Given the description of an element on the screen output the (x, y) to click on. 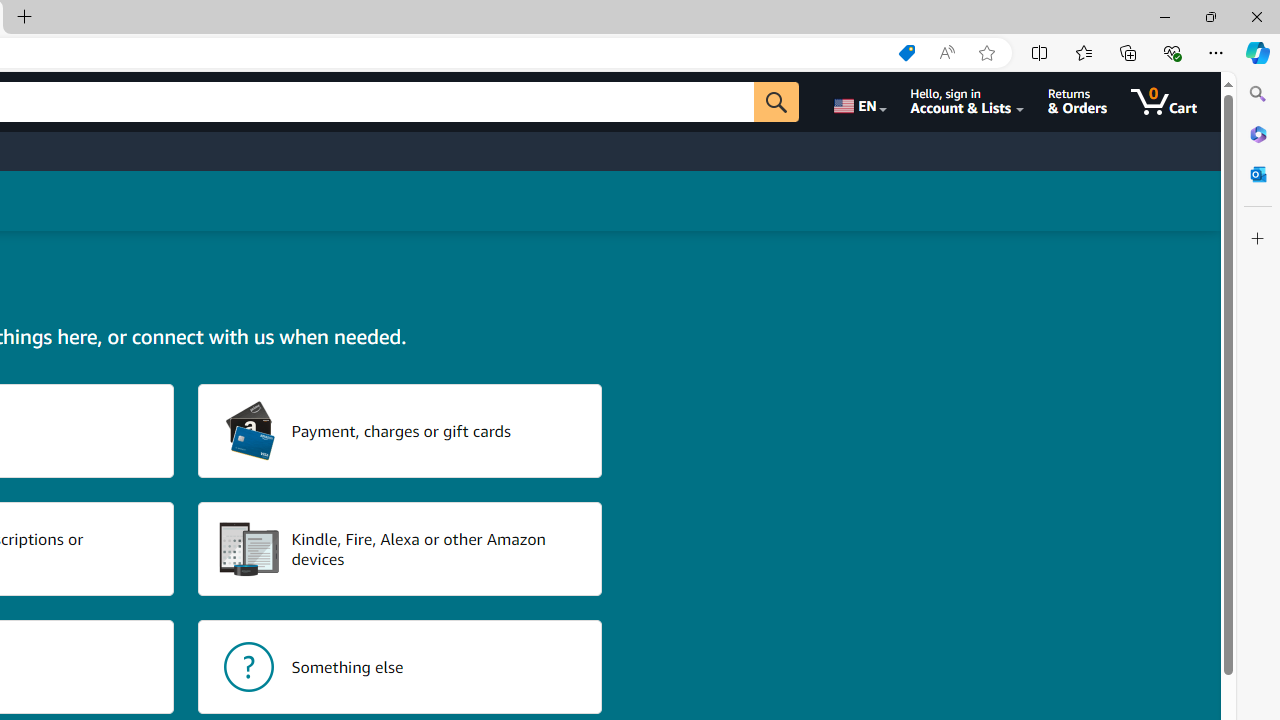
Shopping in Microsoft Edge (906, 53)
Something else (400, 666)
Returns & Orders (1077, 101)
Kindle, Fire, Alexa or other Amazon devices (400, 548)
